Given the description of an element on the screen output the (x, y) to click on. 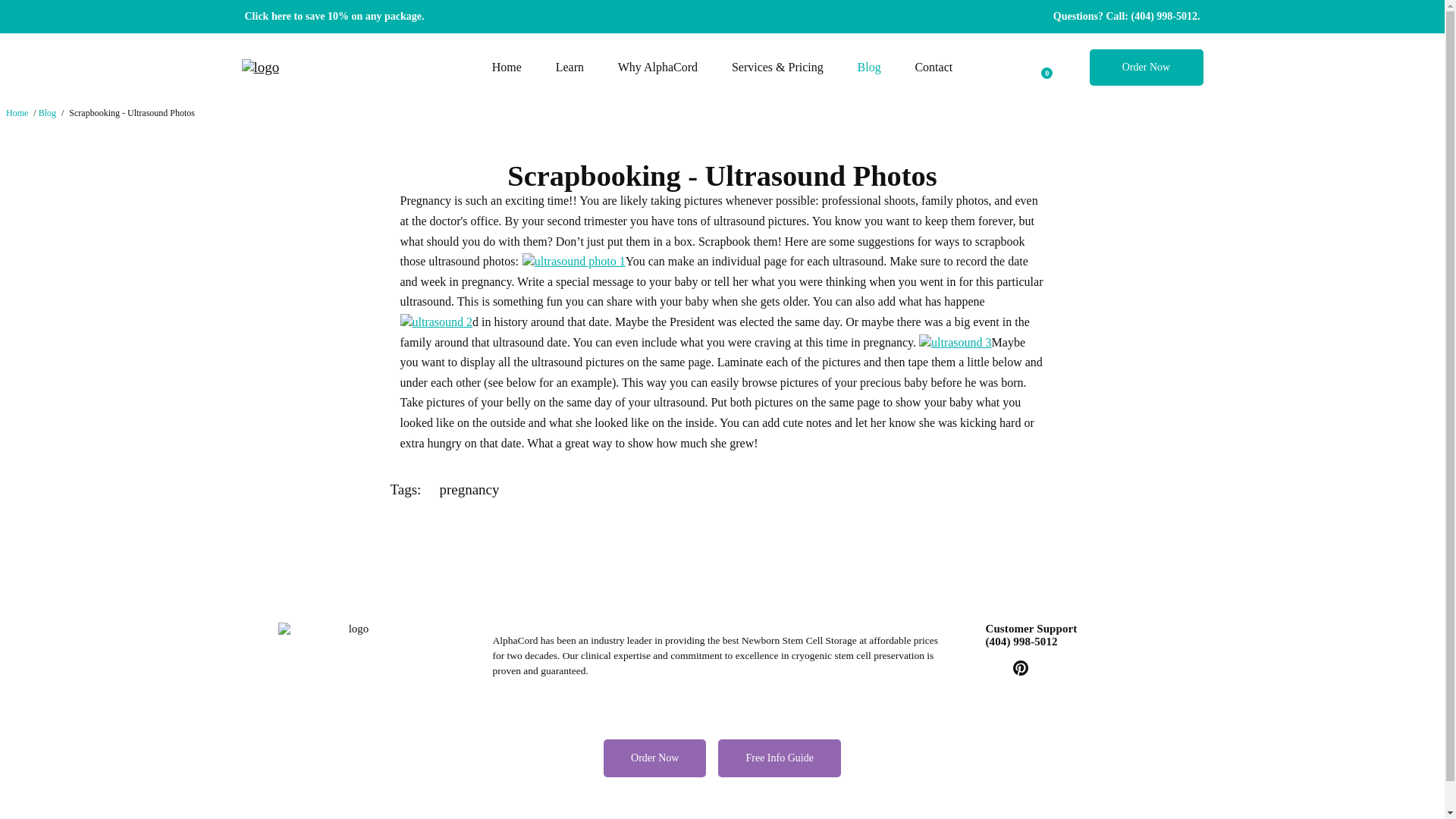
Learn (569, 67)
Blog (869, 67)
Contact (933, 67)
Why AlphaCord (657, 67)
Home (507, 67)
Home (16, 112)
Order Now (1145, 67)
